Given the description of an element on the screen output the (x, y) to click on. 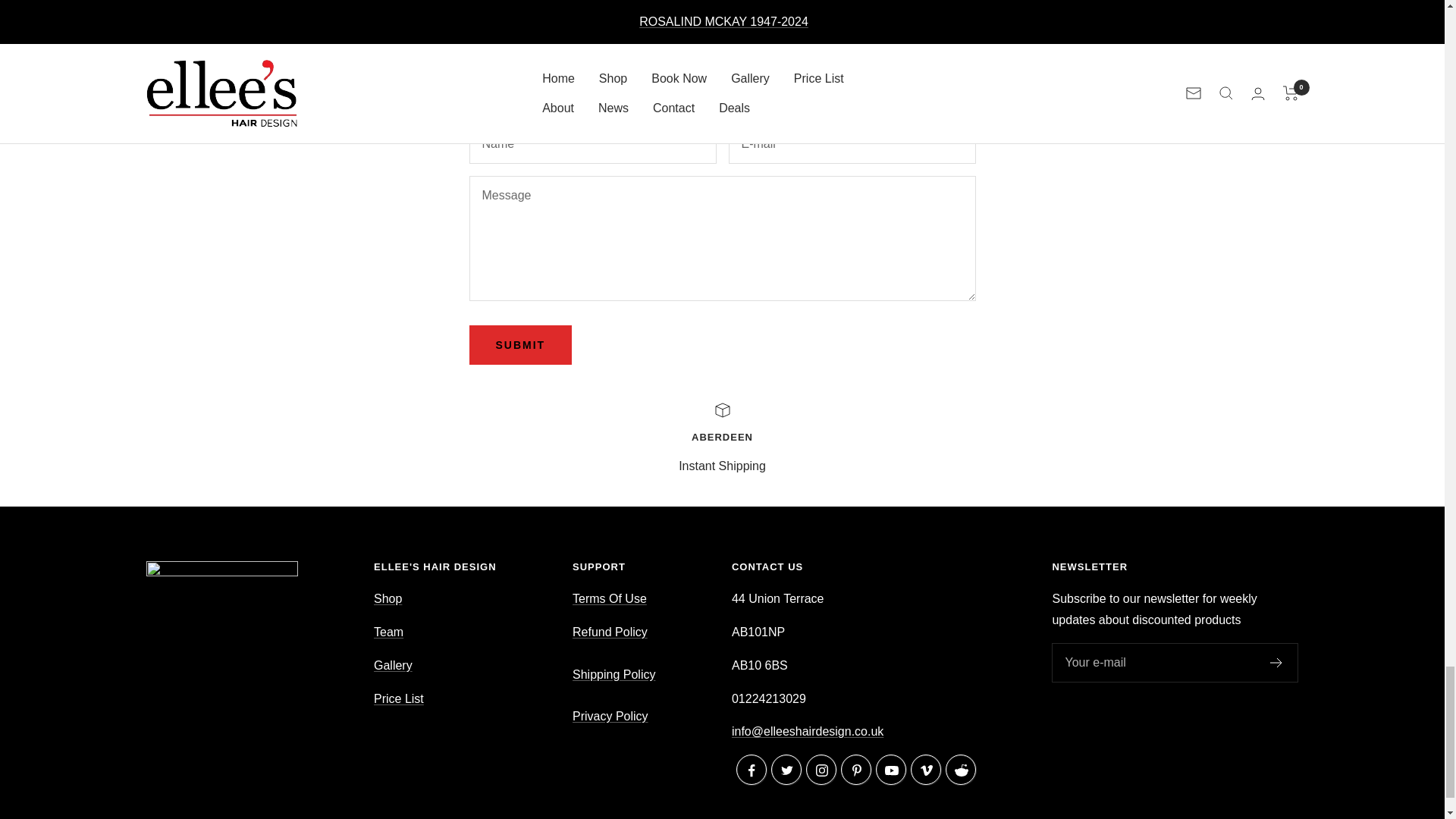
Register (1275, 662)
Privacy Policy (609, 716)
Refund Policy (609, 642)
Price List (398, 698)
About us (388, 631)
Gallery (393, 665)
Shipping Policy (613, 674)
Shop (387, 598)
Terms of Service (609, 598)
